Given the description of an element on the screen output the (x, y) to click on. 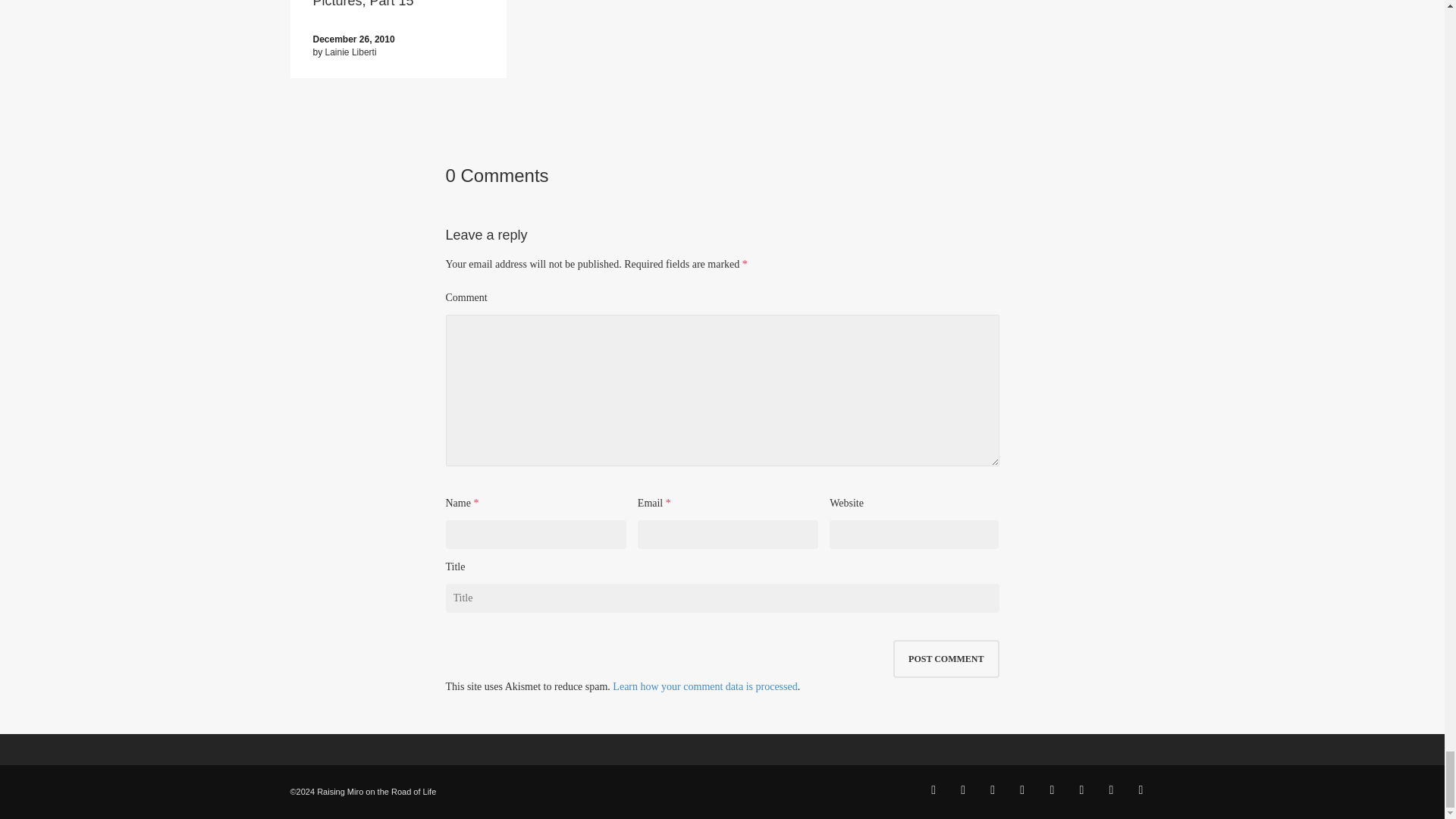
Post comment (945, 658)
